Given the description of an element on the screen output the (x, y) to click on. 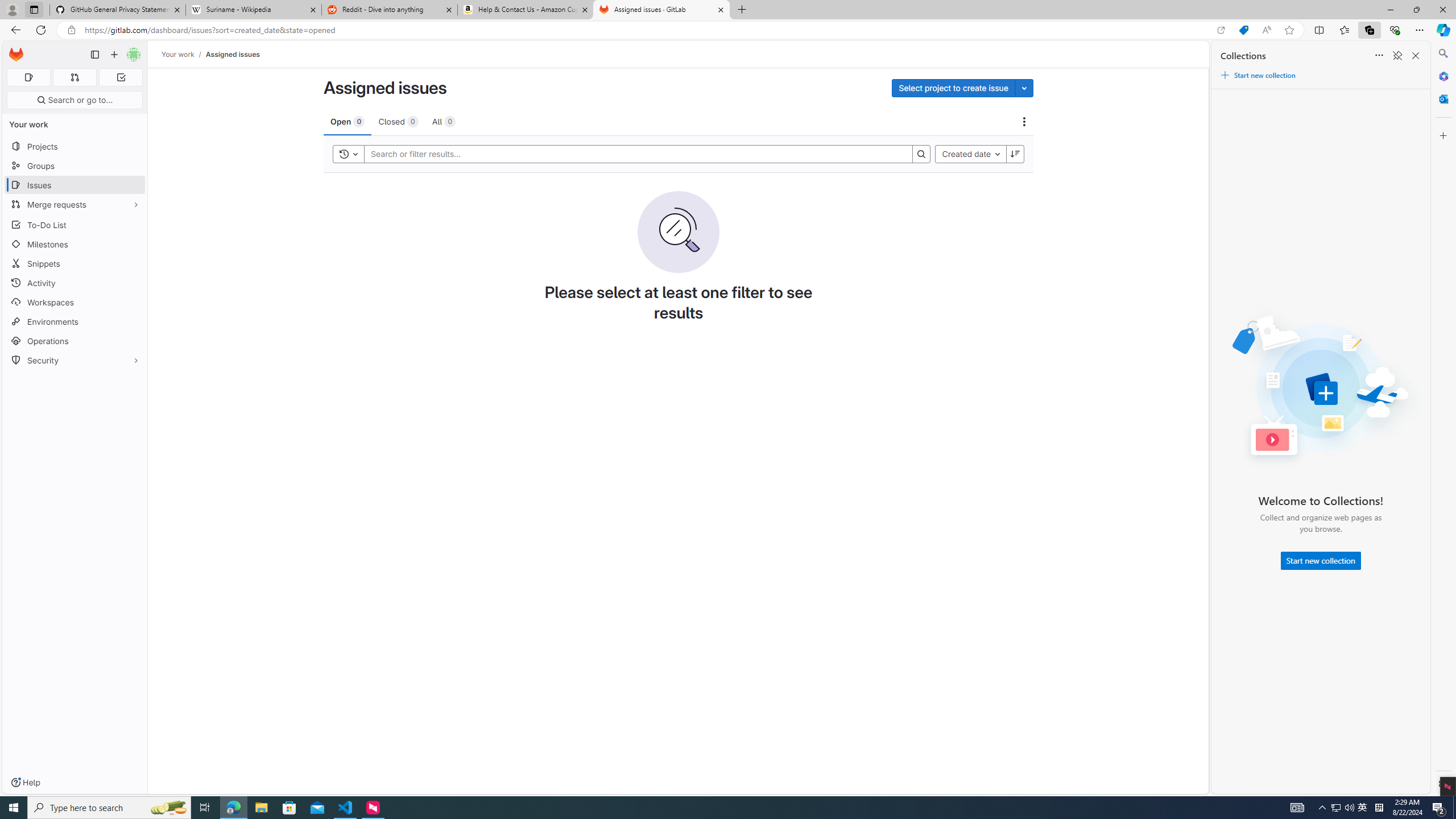
Environments (74, 321)
Issues (74, 185)
Unpin Collections (1397, 55)
GitHub General Privacy Statement - GitHub Docs (117, 9)
Sort direction: Descending (1015, 153)
Your work/ (183, 53)
Projects (74, 145)
Toggle history (348, 153)
Skip to main content (13, 49)
Milestones (74, 244)
Homepage (16, 54)
Help (25, 782)
Milestones (74, 244)
